Given the description of an element on the screen output the (x, y) to click on. 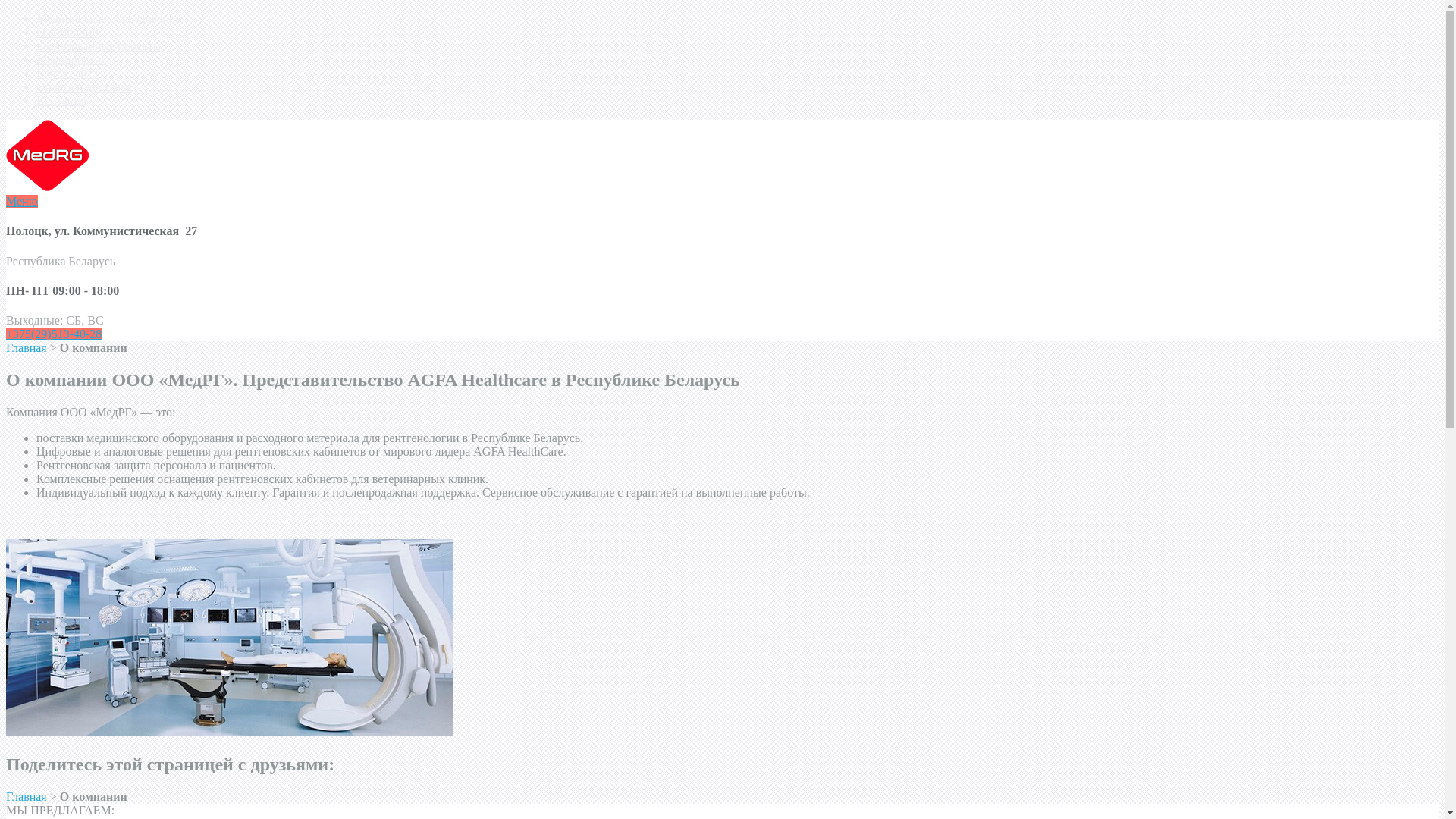
+375(29)513-40-28 Element type: text (53, 333)
